Given the description of an element on the screen output the (x, y) to click on. 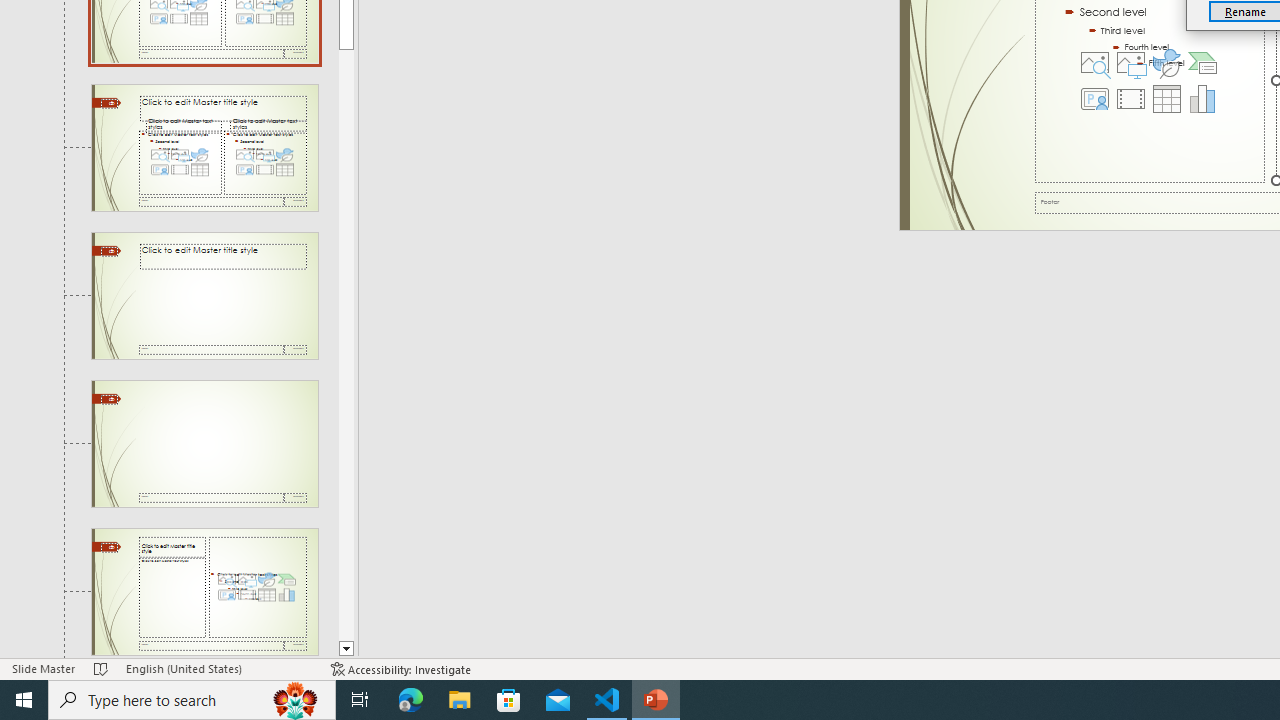
Insert Chart (1202, 98)
Slide Title Only Layout: used by no slides (204, 443)
Slide Comparison Layout: used by no slides (204, 296)
Slide Blank Layout: used by no slides (204, 592)
